Given the description of an element on the screen output the (x, y) to click on. 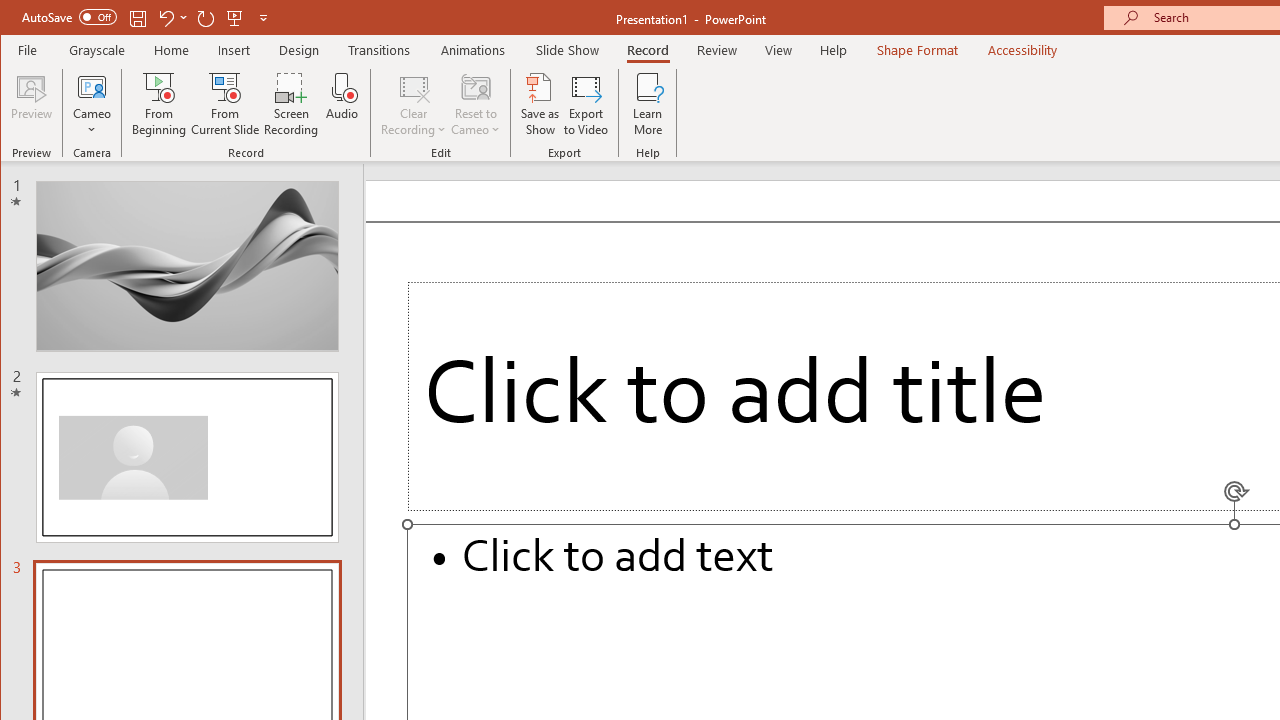
Clear Recording (413, 104)
Audio (342, 104)
Screen Recording (291, 104)
Reset to Cameo (476, 104)
Learn More (648, 104)
Save as Show (539, 104)
